Given the description of an element on the screen output the (x, y) to click on. 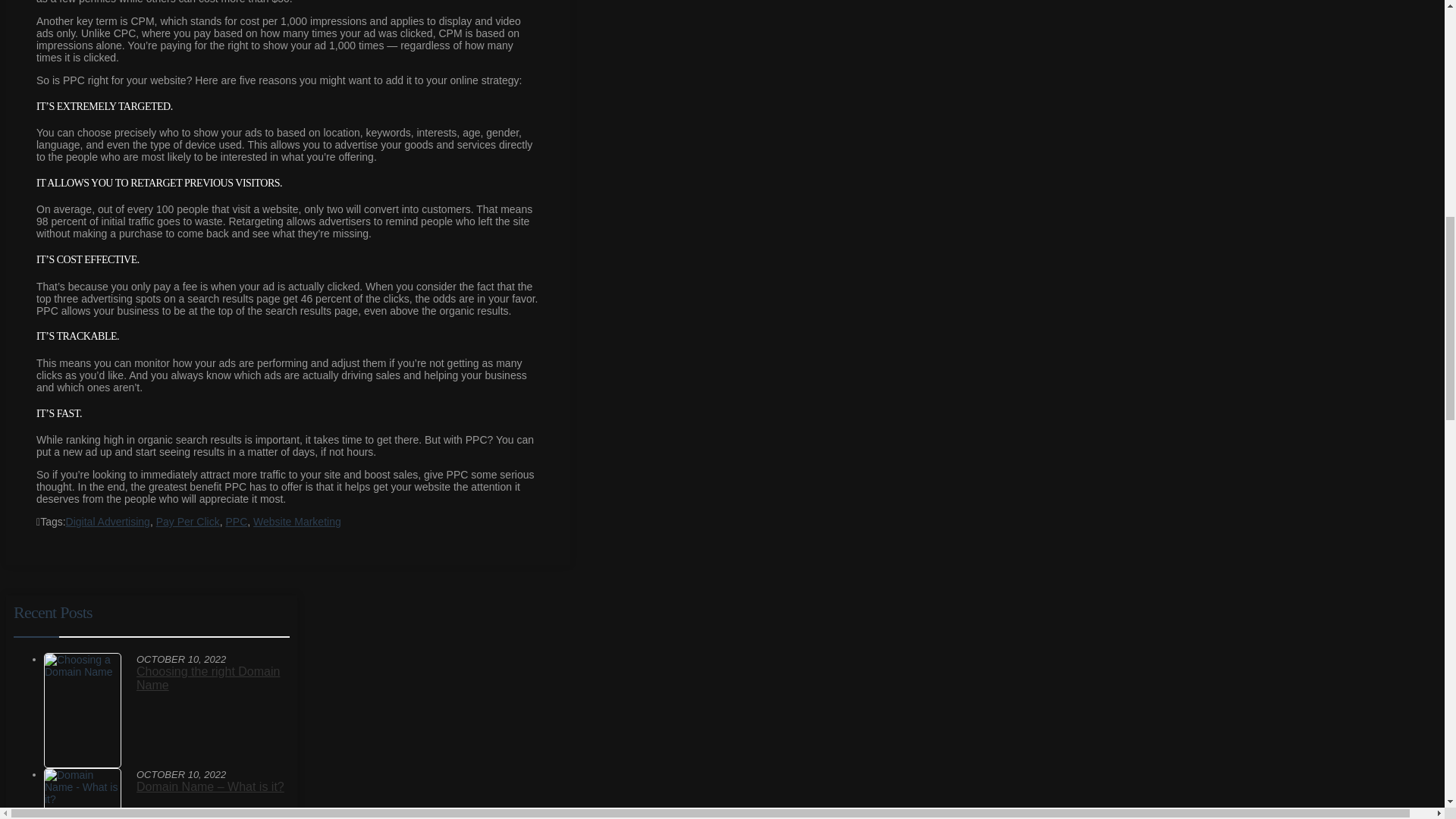
Pay Per Click (187, 521)
PPC (236, 521)
Website Marketing (296, 521)
Digital Advertising (107, 521)
